Given the description of an element on the screen output the (x, y) to click on. 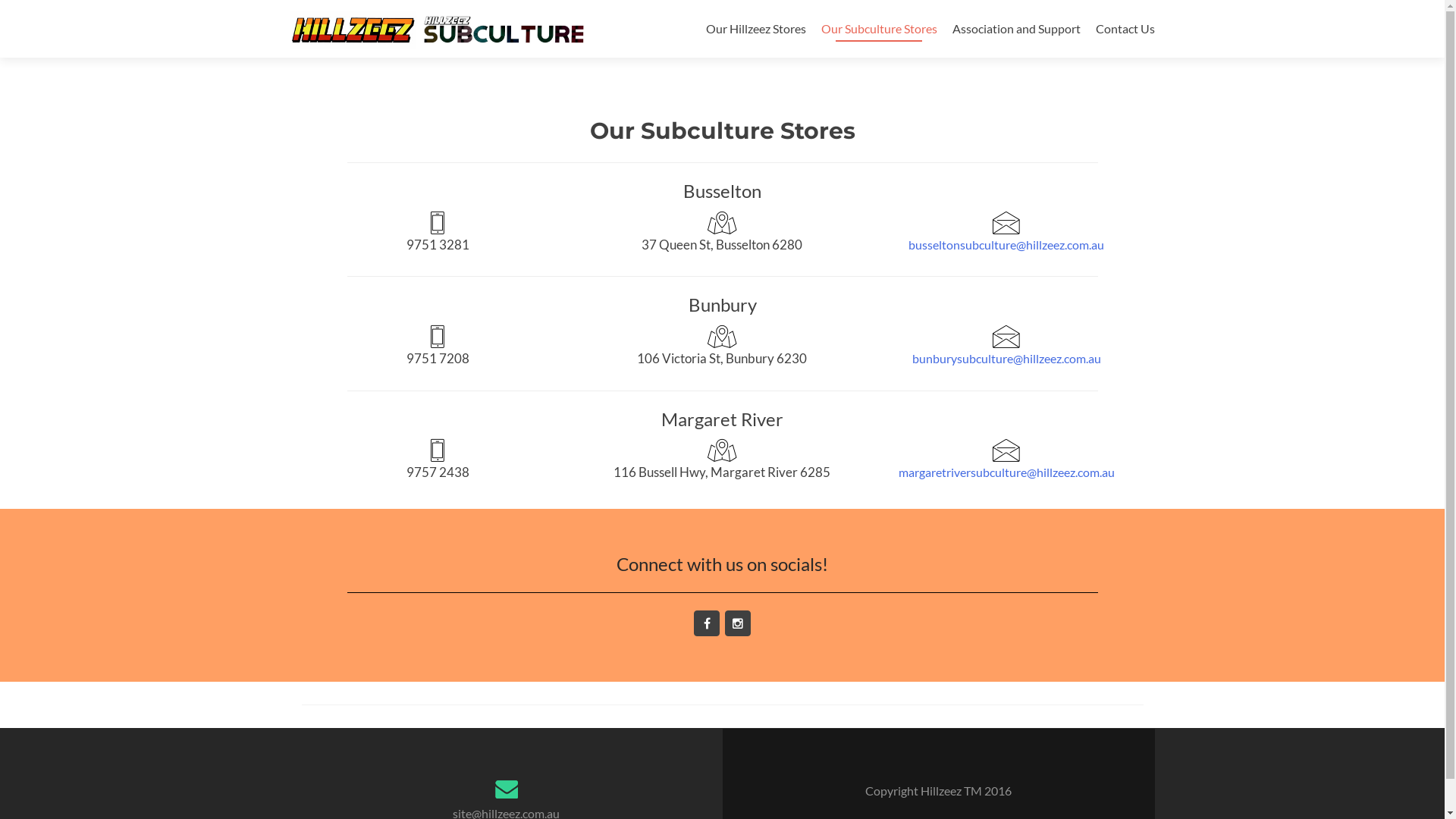
Hillzeez Down South Surf Shops Element type: hover (440, 28)
Our Hillzeez Stores Element type: text (755, 28)
Contact Us Element type: text (1124, 28)
margaretriversubculture@hillzeez.com.au Element type: text (1006, 471)
Association and Support Element type: text (1016, 28)
Our Subculture Stores Element type: text (878, 28)
bunburysubculture@hillzeez.com.au Element type: text (1006, 358)
busseltonsubculture@hillzeez.com.au Element type: text (1006, 244)
